Given the description of an element on the screen output the (x, y) to click on. 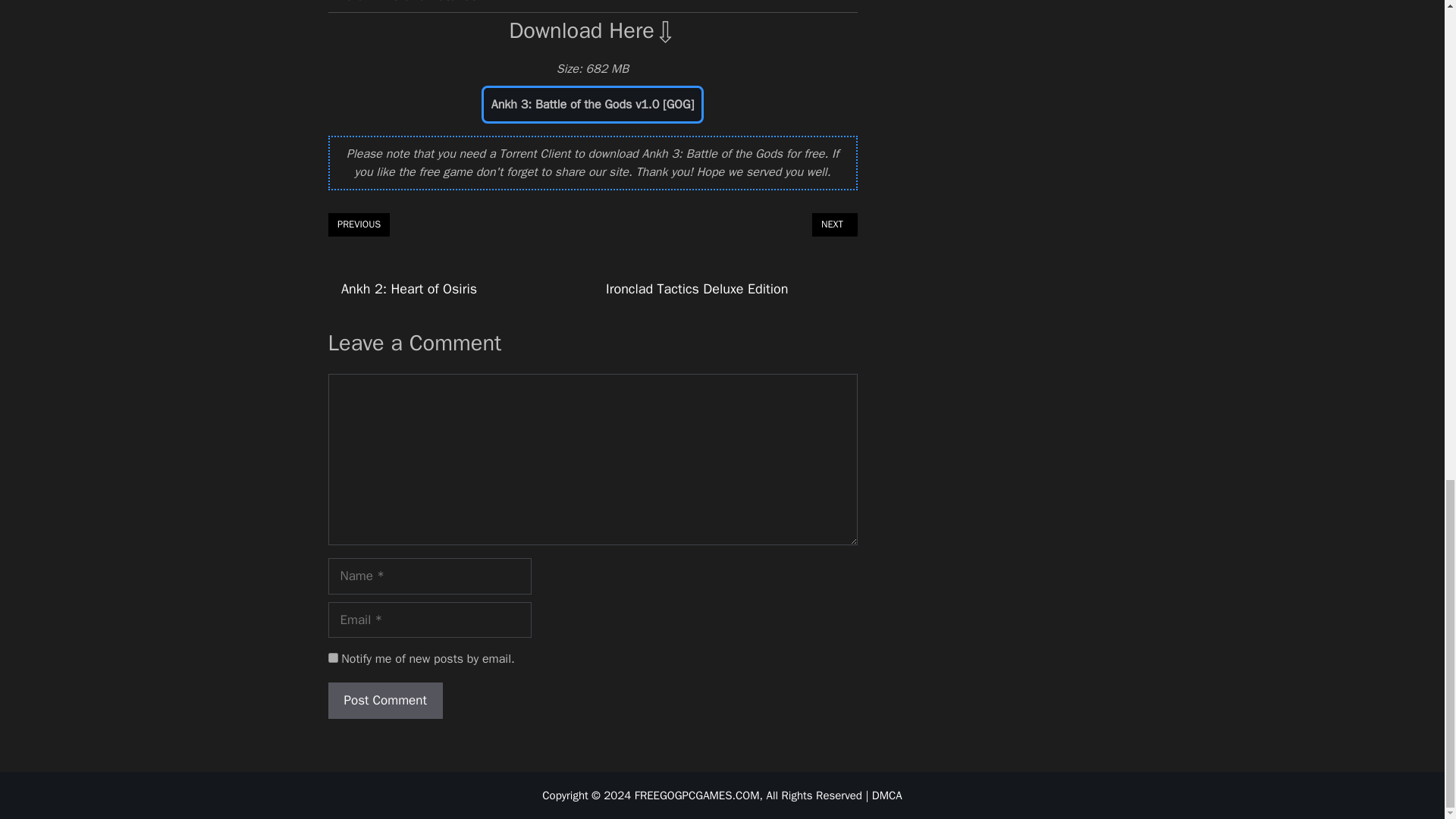
Torrent Client (534, 153)
Post Comment (384, 700)
subscribe (332, 657)
